Given the description of an element on the screen output the (x, y) to click on. 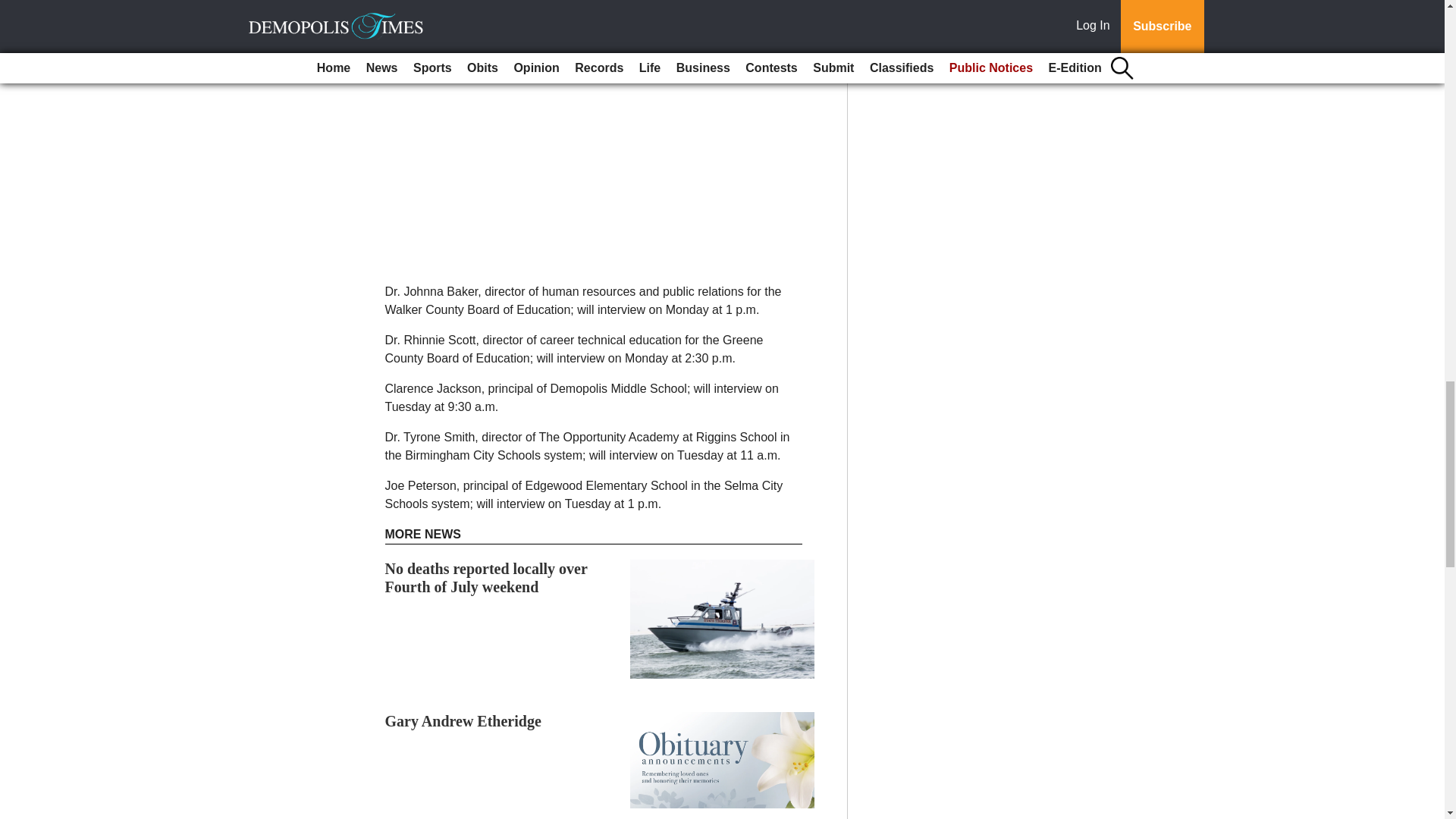
No deaths reported locally over Fourth of July weekend (486, 577)
No deaths reported locally over Fourth of July weekend (486, 577)
Gary Andrew Etheridge  (464, 720)
